Given the description of an element on the screen output the (x, y) to click on. 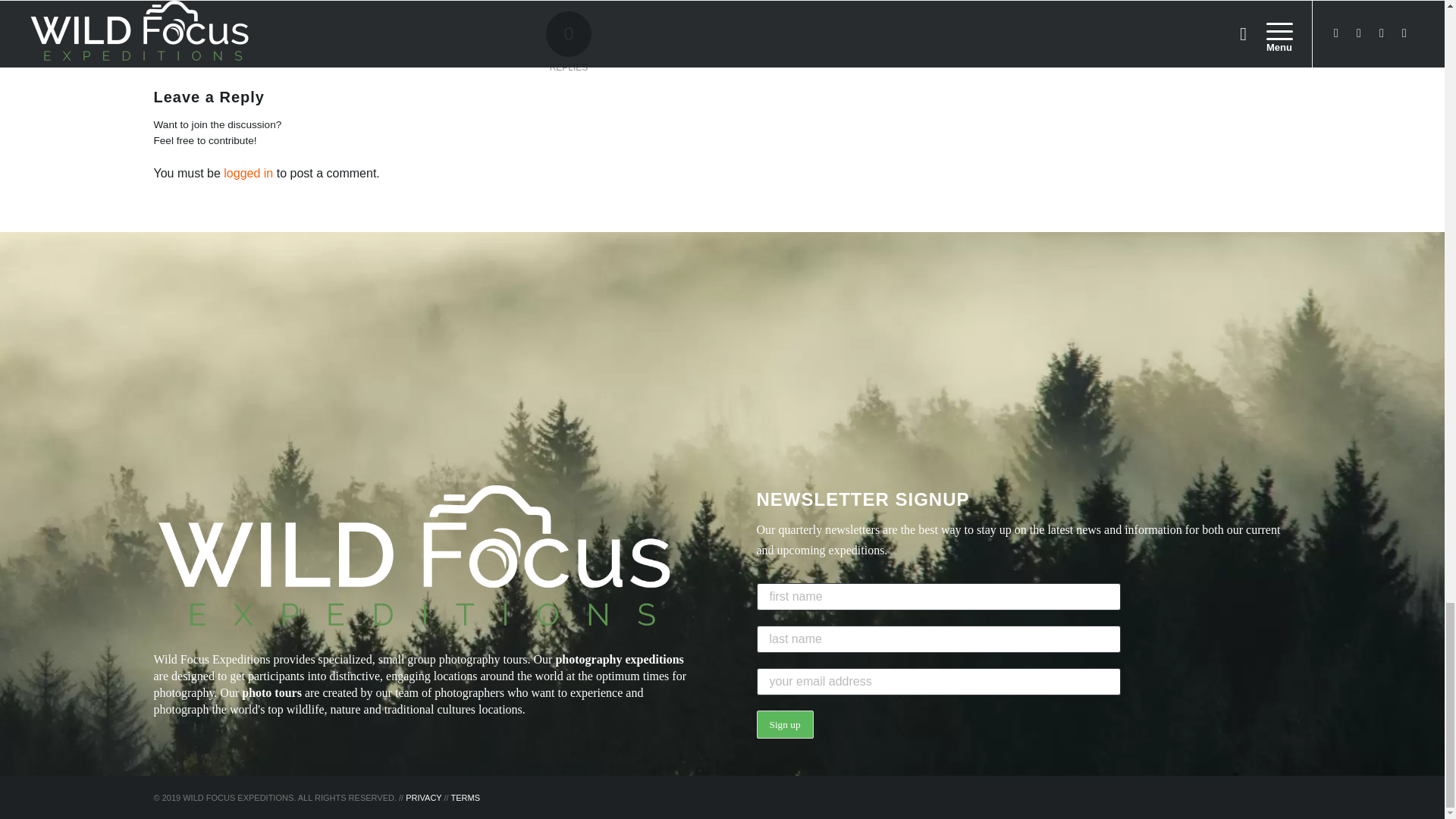
Sign up (785, 724)
